Given the description of an element on the screen output the (x, y) to click on. 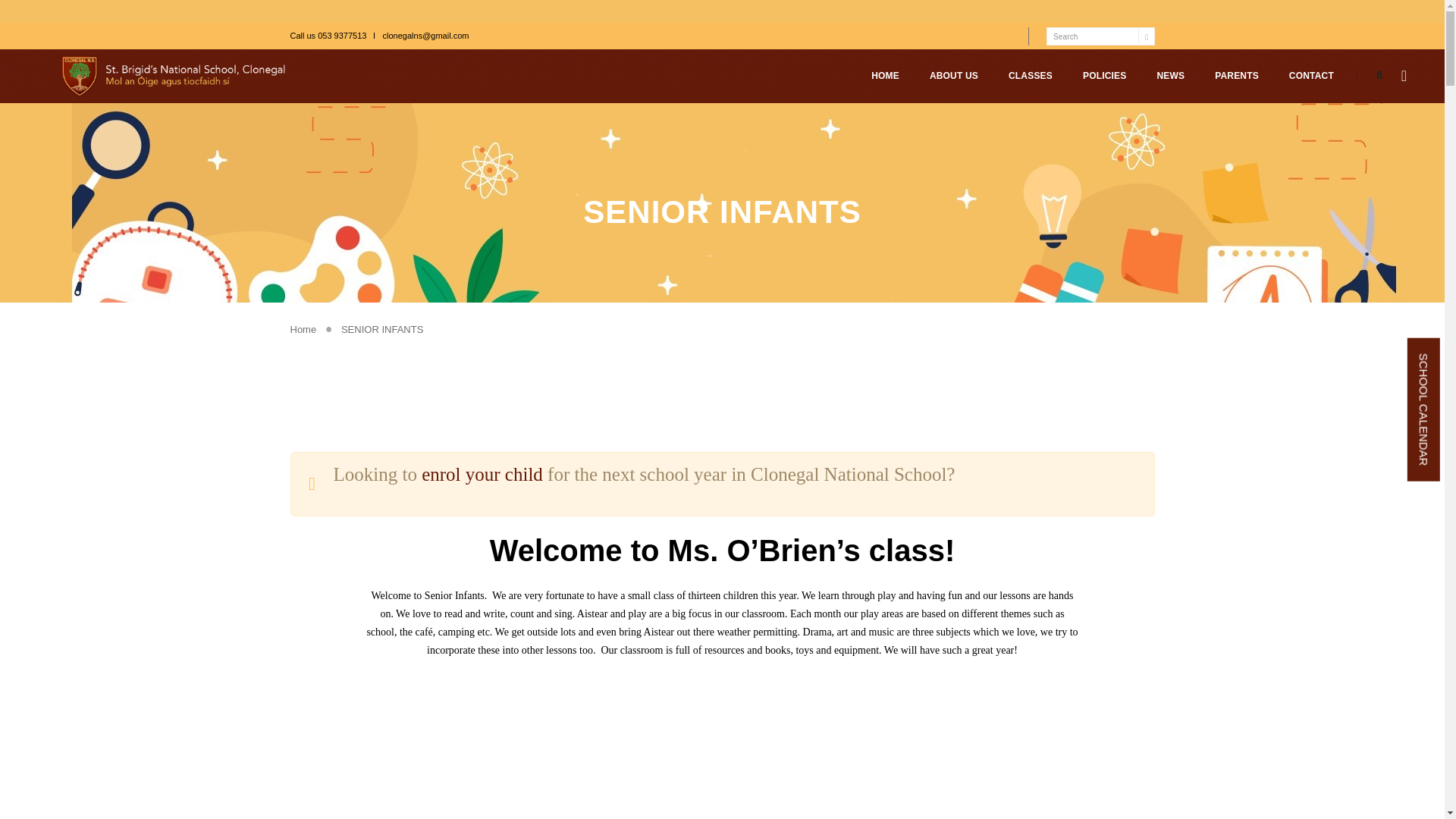
St Brigid's National School (178, 74)
Call us 053 9377513 (327, 35)
Browse to: Home (302, 328)
Call us 053 9377513 (327, 35)
ABOUT US (954, 75)
Home (302, 328)
